Given the description of an element on the screen output the (x, y) to click on. 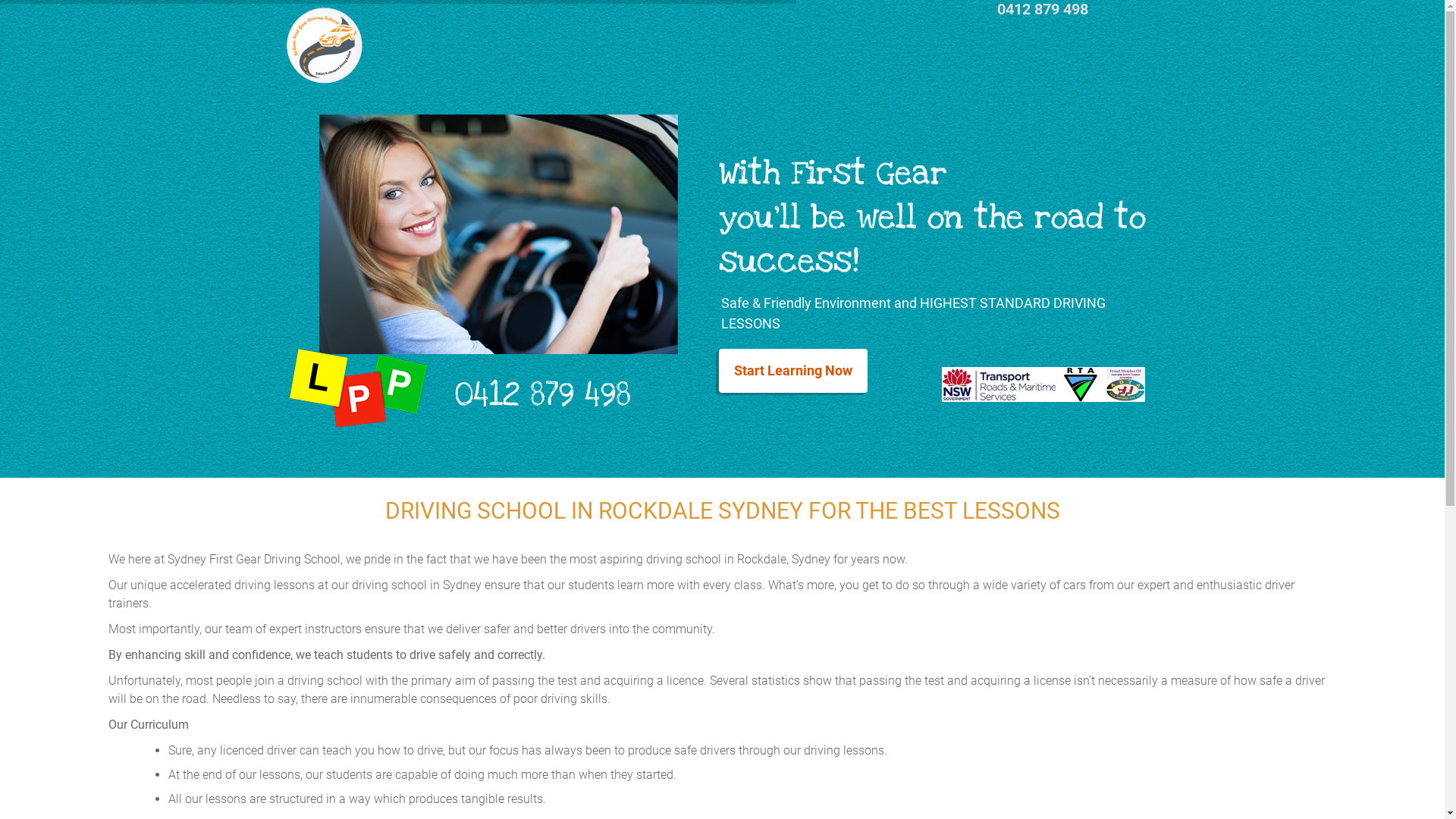
0412 879 498 Element type: text (1042, 9)
0412 879 498 Element type: text (541, 394)
Start Learning Now Element type: text (793, 370)
. Element type: text (324, 53)
